Given the description of an element on the screen output the (x, y) to click on. 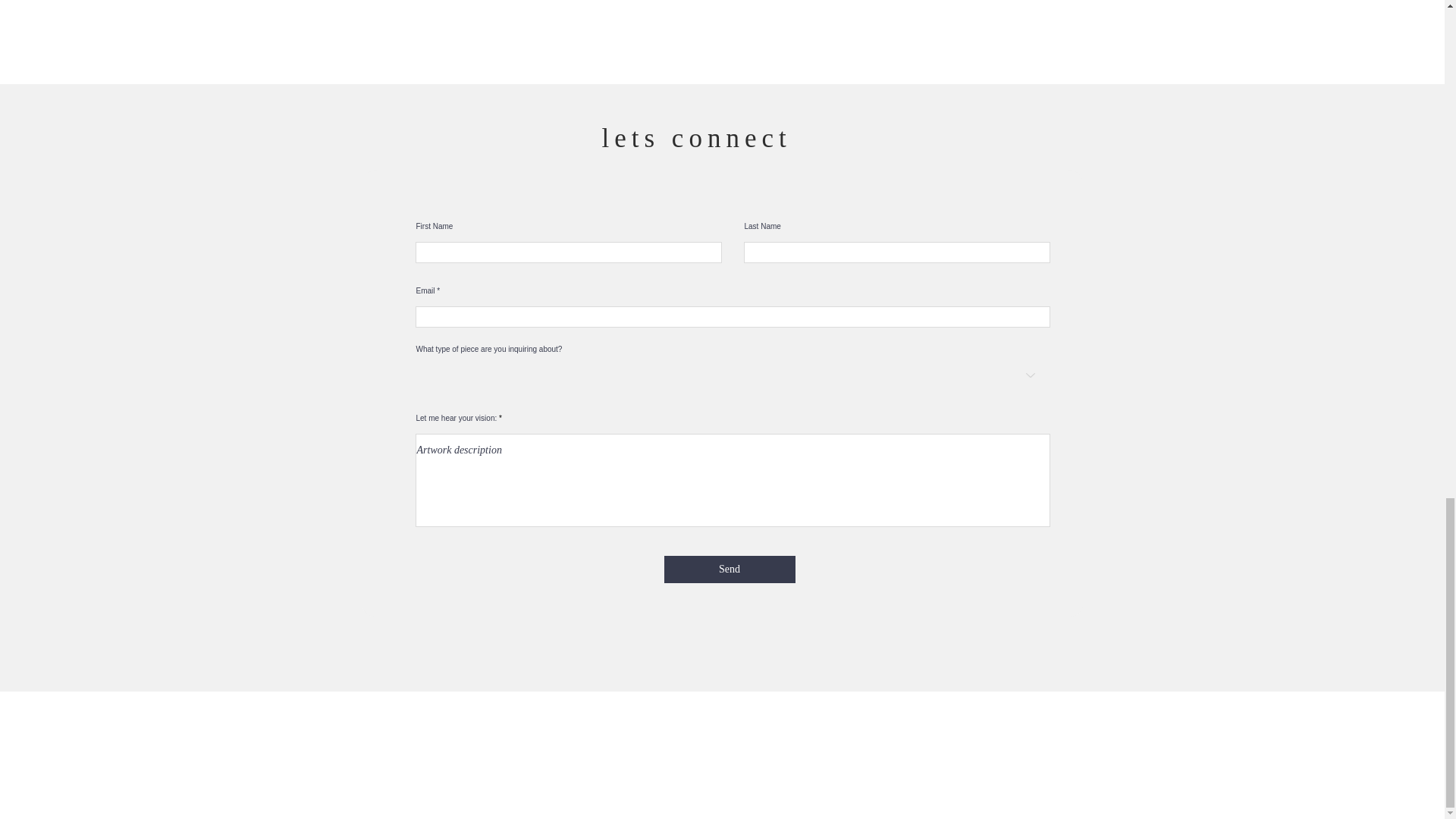
lets connect (697, 137)
Send (728, 569)
